Given the description of an element on the screen output the (x, y) to click on. 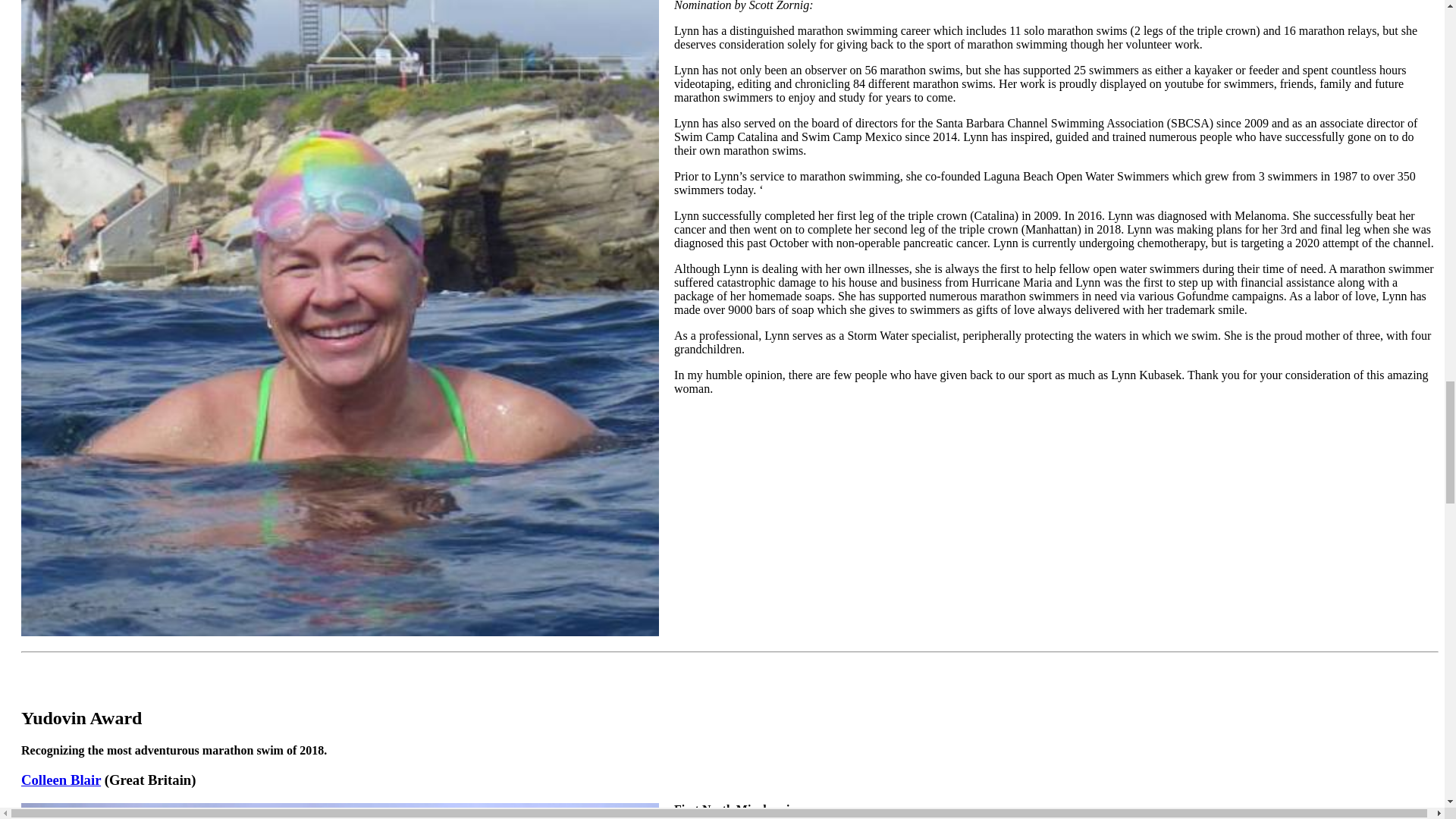
Colleen Blair (60, 779)
